Given the description of an element on the screen output the (x, y) to click on. 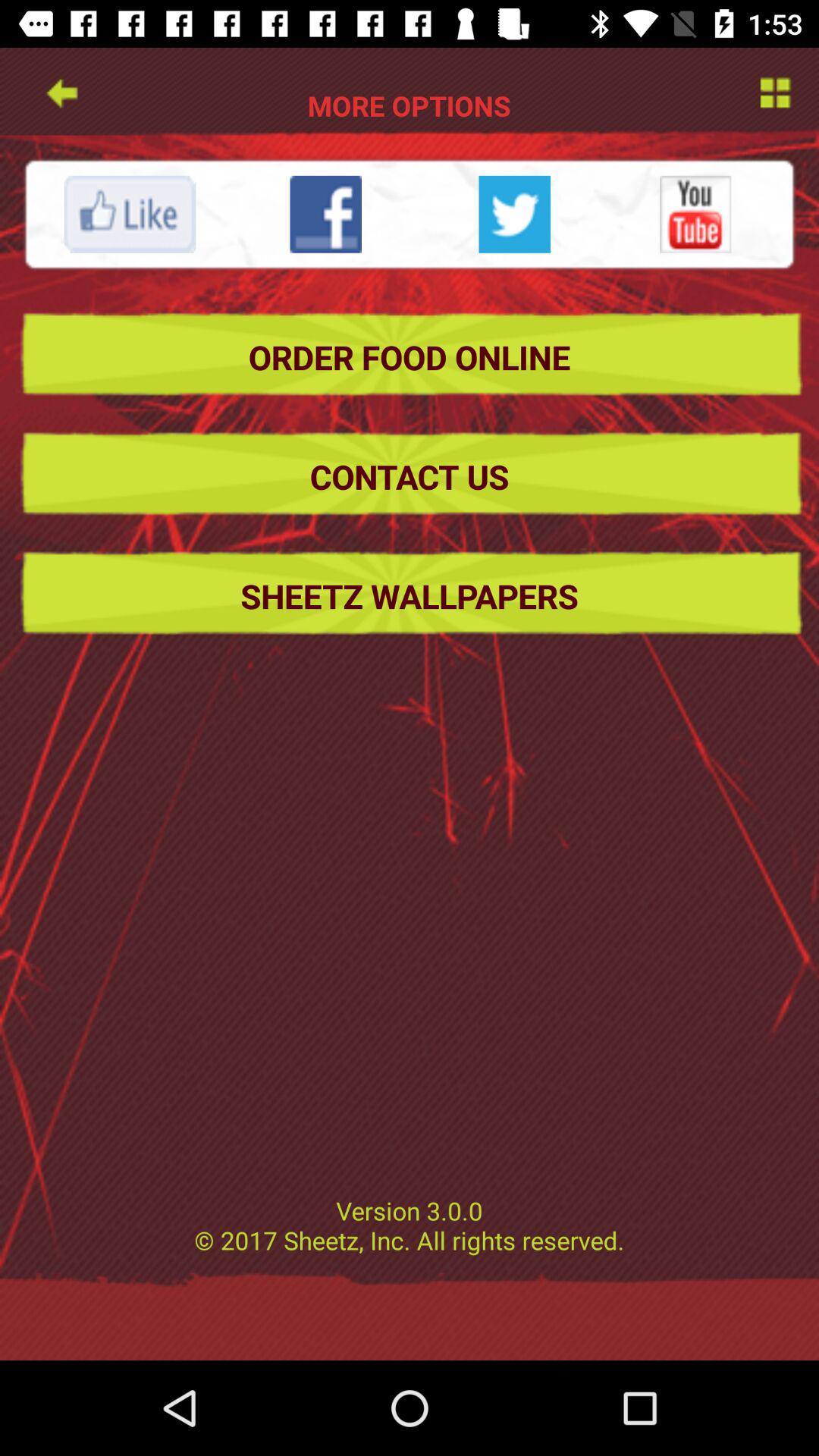
go to setting (774, 91)
